Given the description of an element on the screen output the (x, y) to click on. 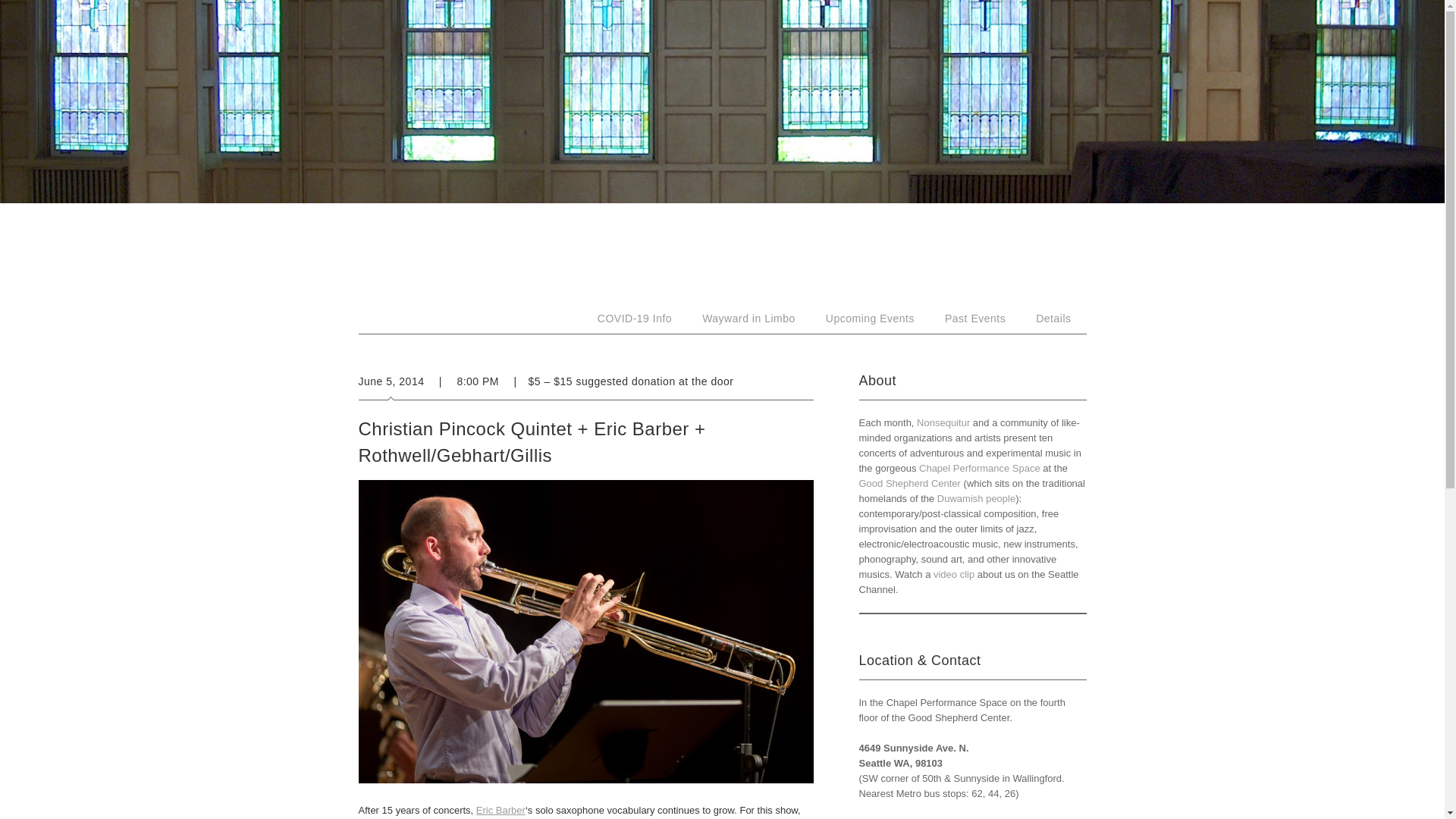
Nonsequitur (943, 422)
video clip (953, 573)
Duwamish people (975, 498)
Good Shepherd Center (909, 482)
Wayward in Limbo (748, 318)
Eric Barber (500, 809)
Upcoming Events (870, 318)
Details (1053, 318)
Past Events (975, 318)
COVID-19 Info (634, 318)
Chapel Performance Space (979, 468)
